Given the description of an element on the screen output the (x, y) to click on. 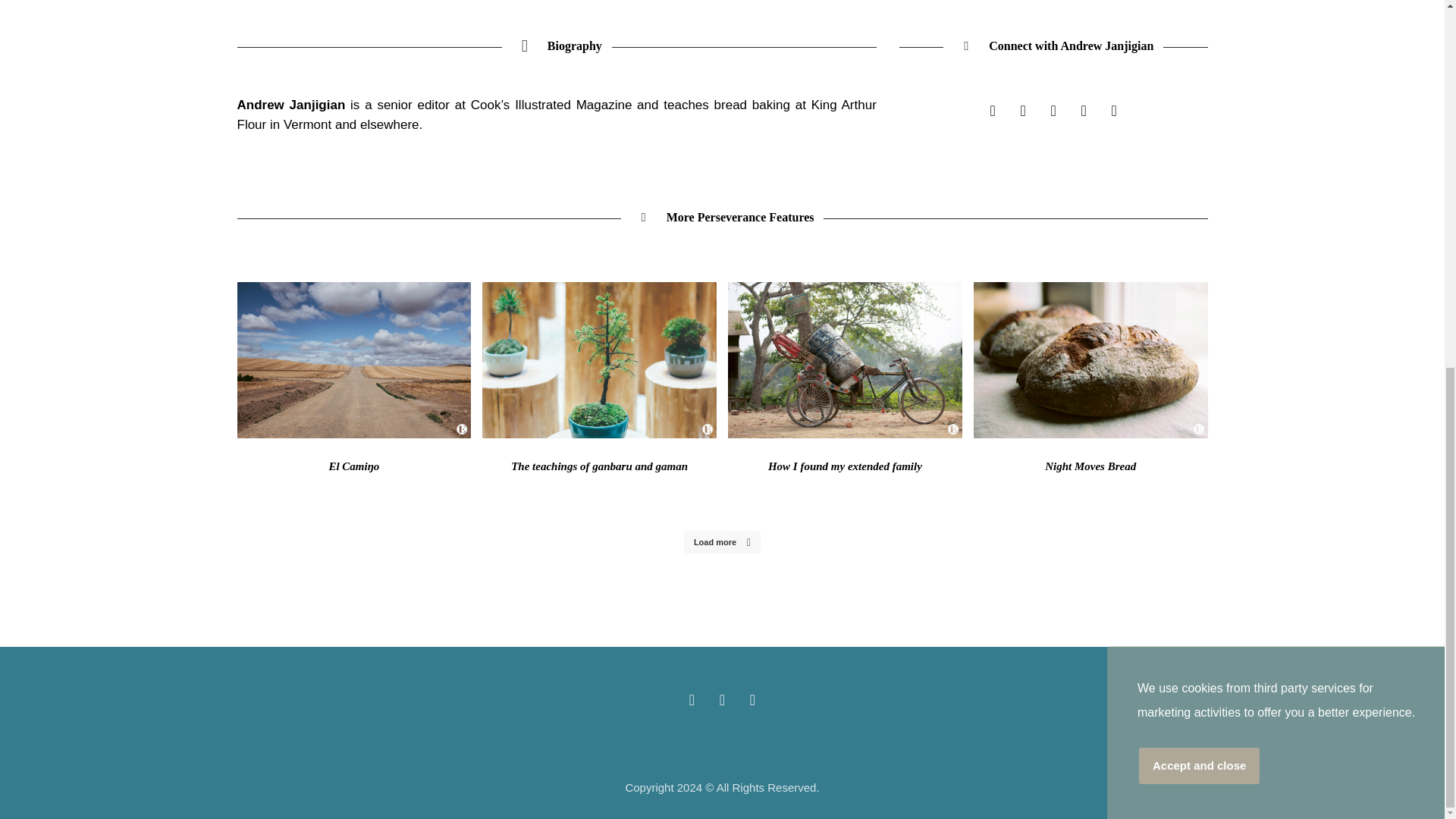
Instagram (1022, 110)
Instagram (1053, 110)
Twitter (1083, 110)
Website (991, 110)
The teachings of ganbaru and gaman (599, 466)
How I found my extended family (844, 466)
Night Moves Bread (1090, 466)
